Given the description of an element on the screen output the (x, y) to click on. 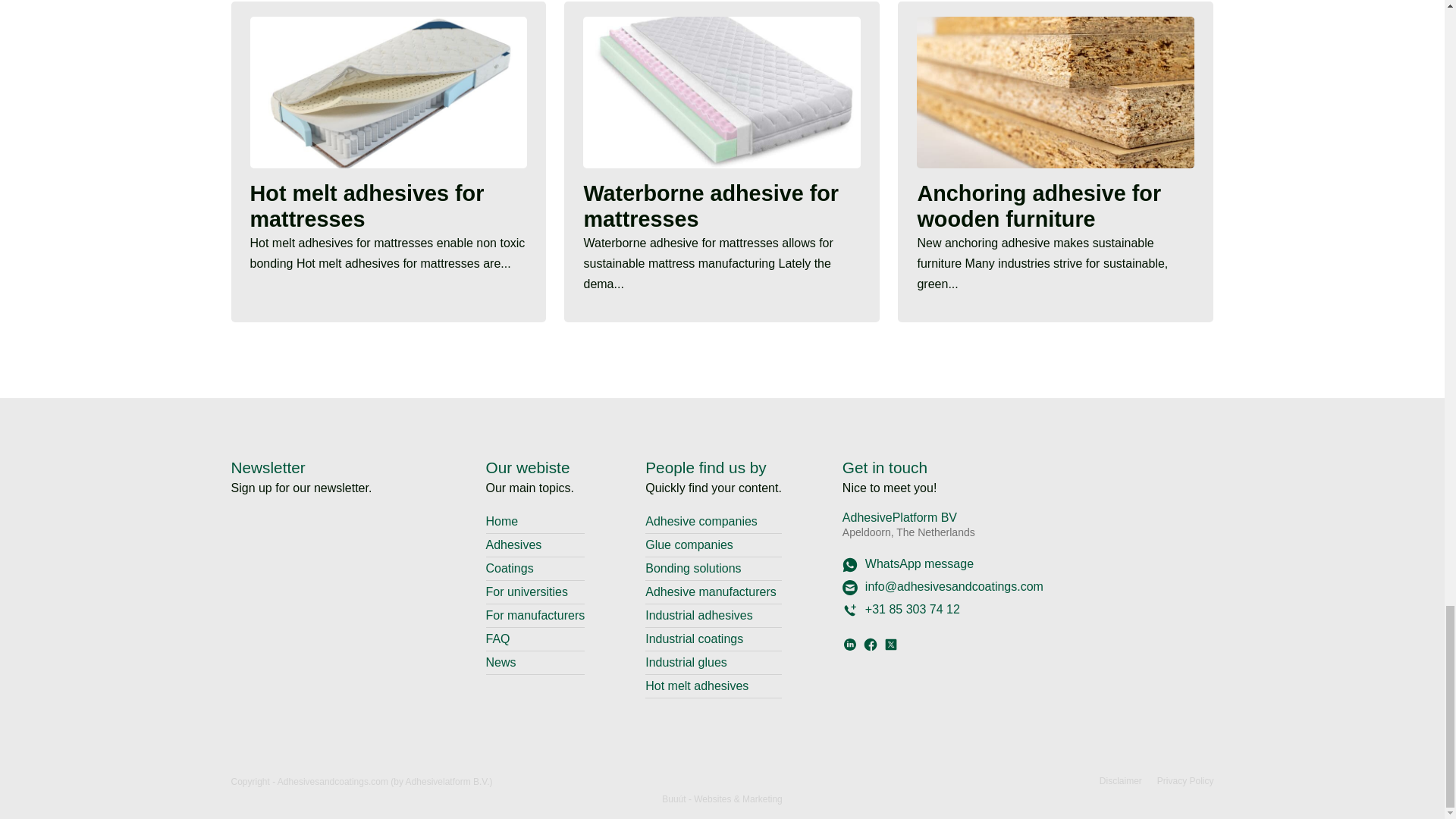
Adhesives (512, 544)
Coatings (508, 567)
For universities (525, 591)
Home (501, 521)
